Given the description of an element on the screen output the (x, y) to click on. 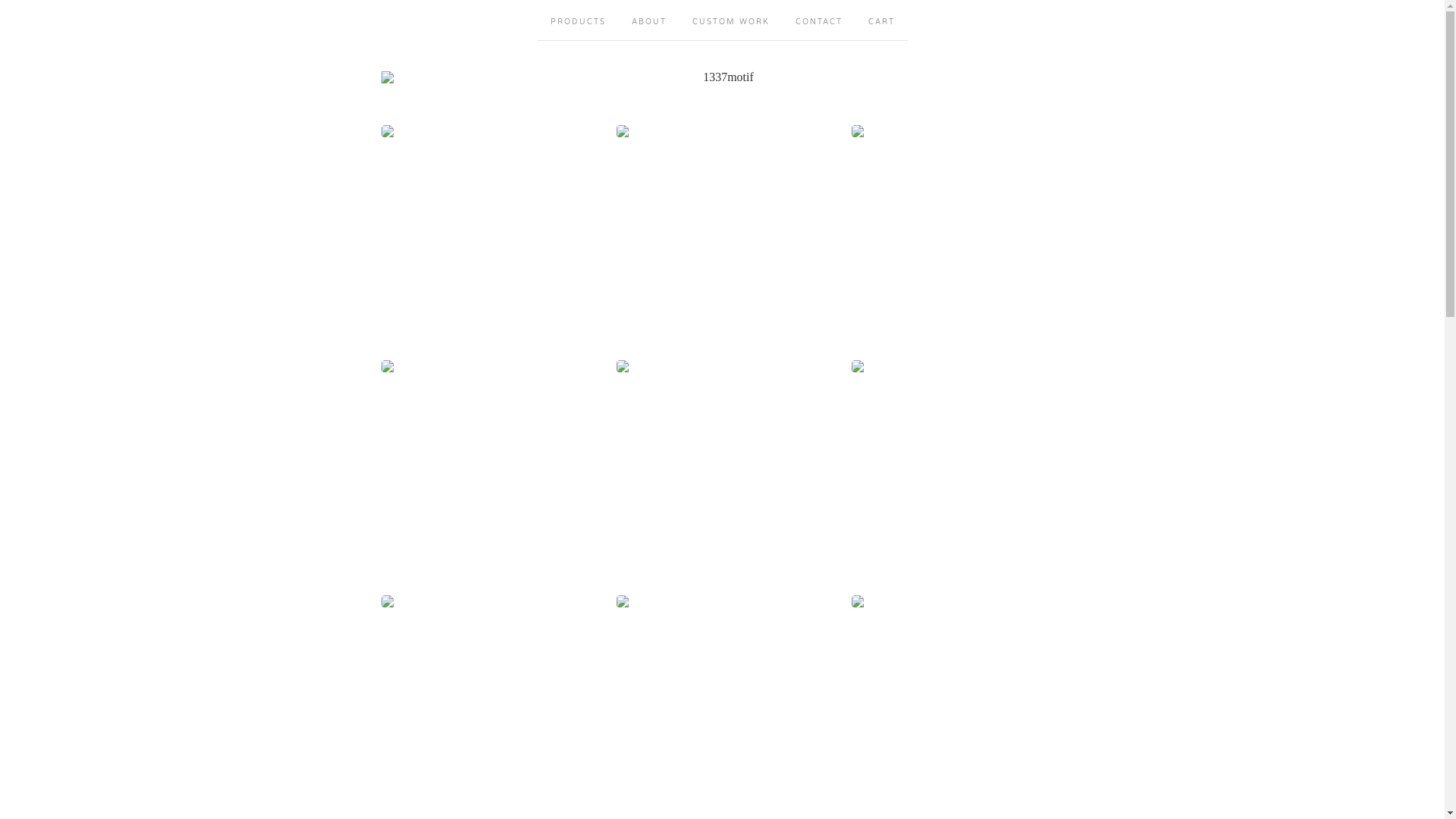
CUSTOM WORK Element type: text (730, 20)
PRODUCTS Element type: text (577, 20)
View Triforce Coasters Element type: hover (486, 465)
View 8-bit Cutting Board Element type: hover (721, 465)
View Triforce End-Grain Cutting Board Element type: hover (956, 230)
View Backgammon Inspired Cutting Board Element type: hover (721, 700)
CONTACT Element type: text (818, 20)
ABOUT Element type: text (648, 20)
View Pirate End-Grain Cutting Board Element type: hover (956, 465)
CART Element type: text (881, 20)
View Fibonacci Cutting Board Element type: hover (956, 700)
View Fan Pattern End-Grain Cutting Board Element type: hover (486, 700)
